Given the description of an element on the screen output the (x, y) to click on. 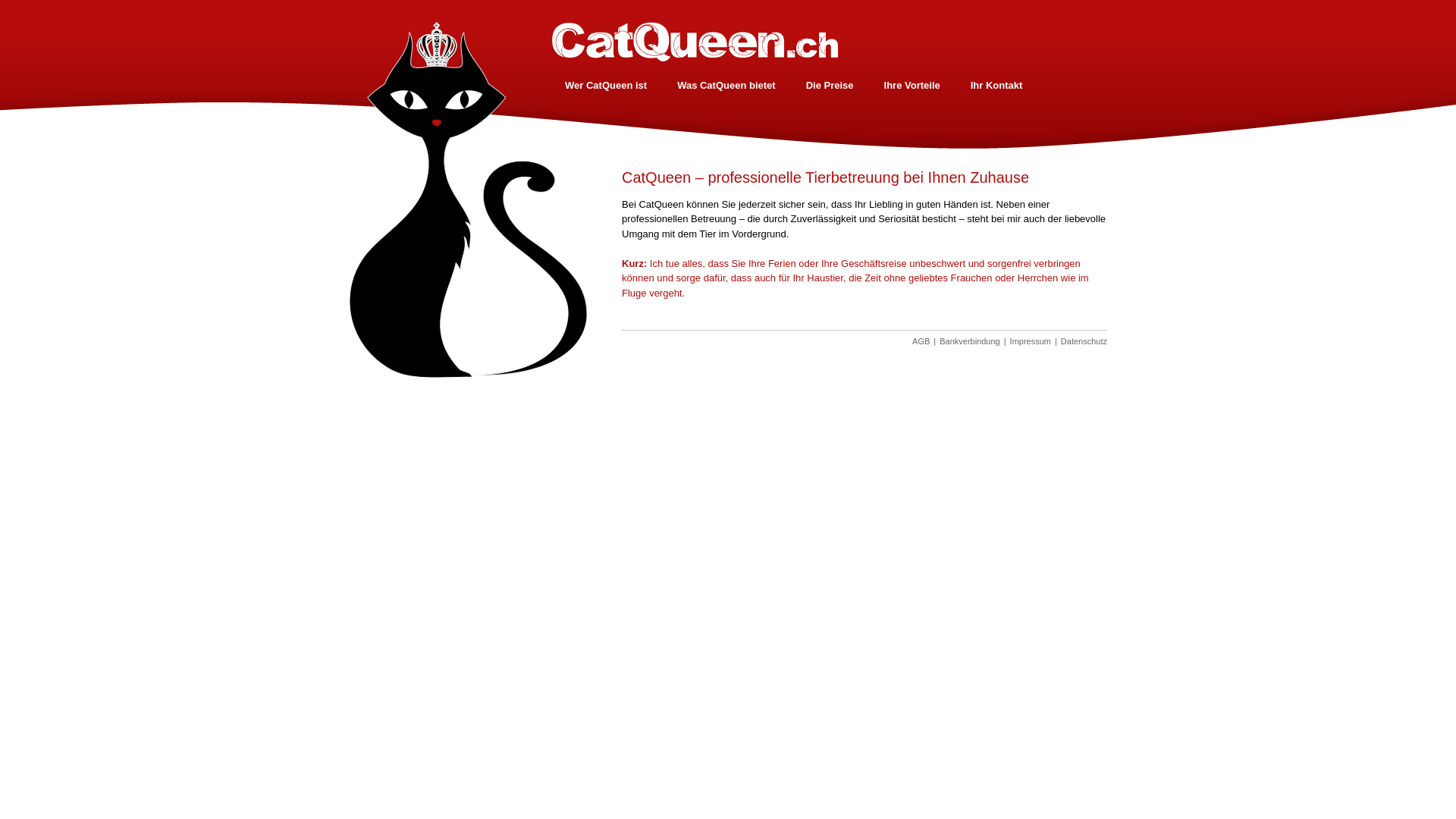
Bankverbindung Element type: text (969, 340)
AGB Element type: text (920, 340)
Was CatQueen bietet Element type: text (726, 84)
Die Preise Element type: text (829, 84)
Impressum Element type: text (1030, 340)
Datenschutz Element type: text (1083, 340)
Wer CatQueen ist Element type: text (605, 84)
Ihr Kontakt Element type: text (996, 84)
Ihre Vorteile Element type: text (911, 84)
